Given the description of an element on the screen output the (x, y) to click on. 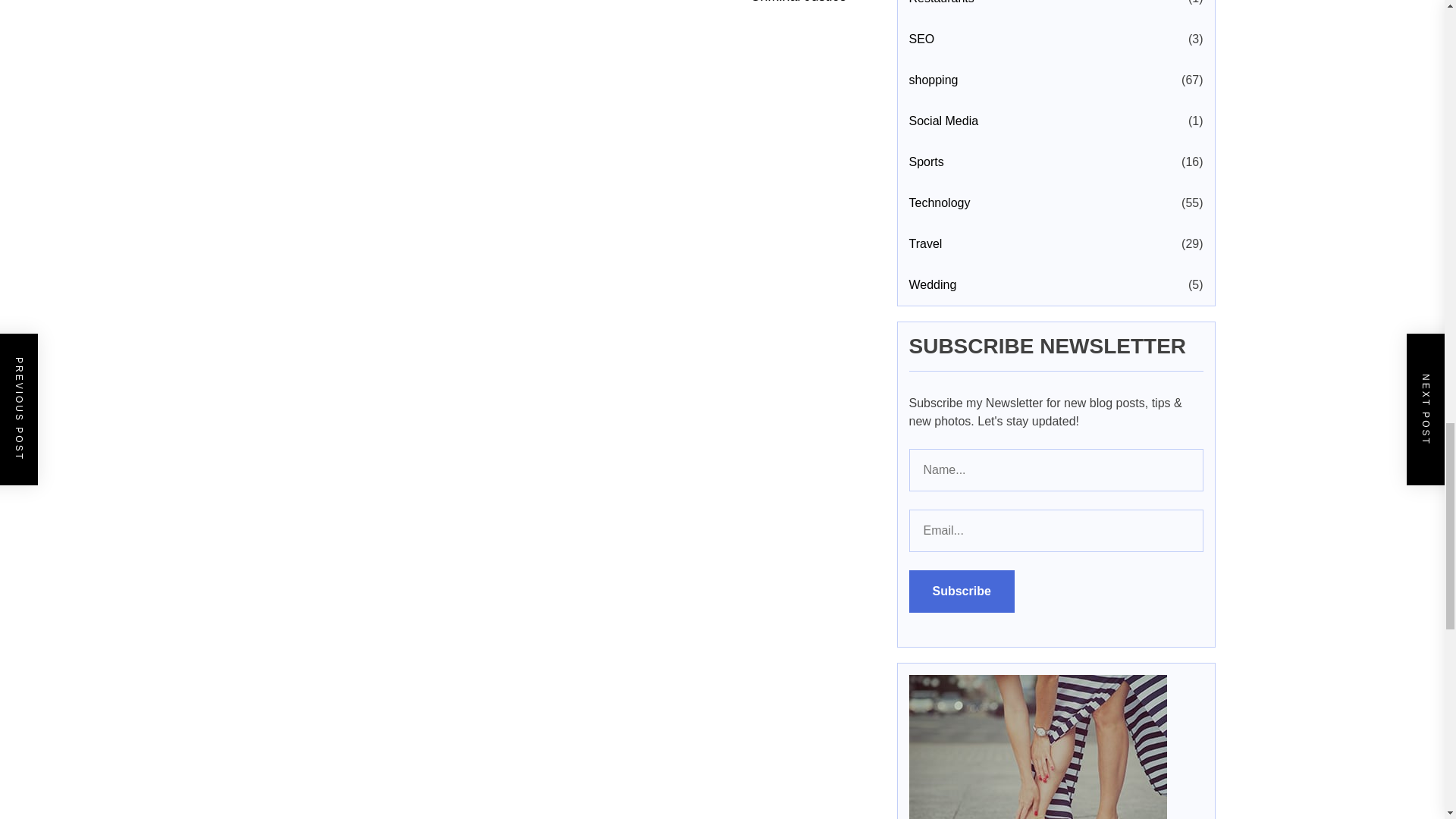
Subscribe (960, 591)
